Given the description of an element on the screen output the (x, y) to click on. 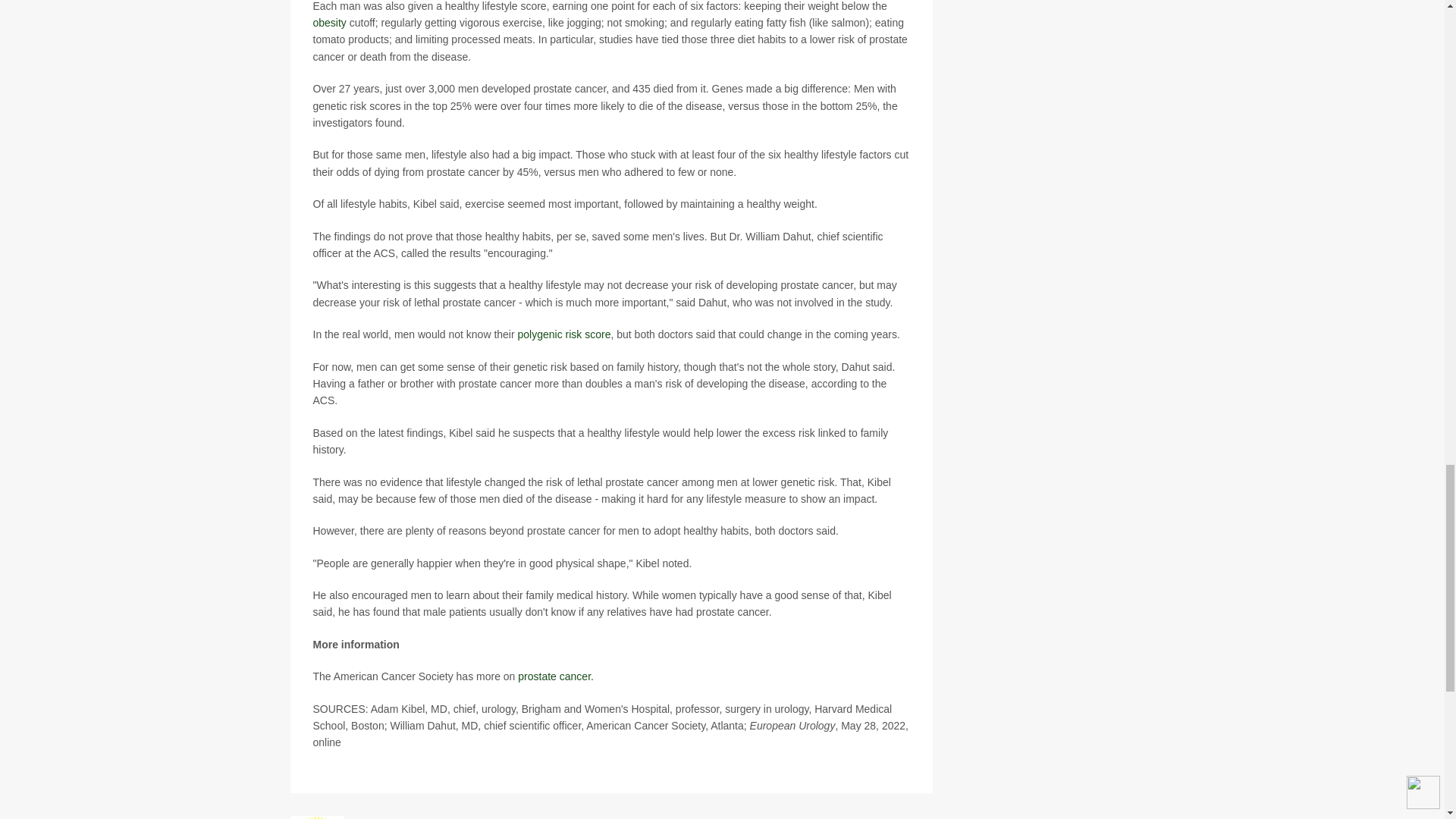
polygenic risk score (564, 334)
obesity (329, 22)
